Given the description of an element on the screen output the (x, y) to click on. 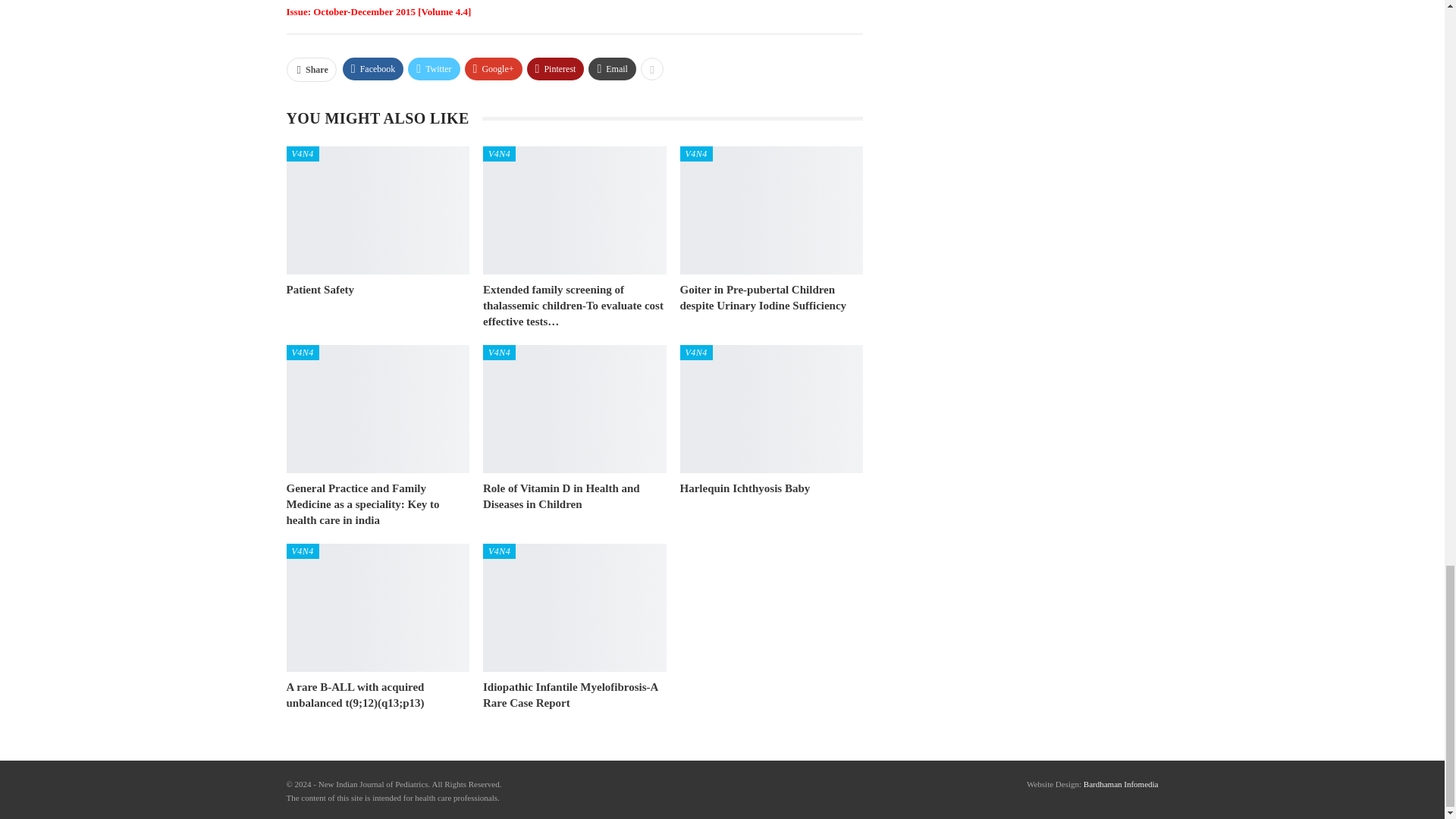
Idiopathic Infantile Myelofibrosis-A Rare Case Report (574, 607)
V4N4 (696, 352)
V4N4 (302, 153)
Role of Vitamin D in Health and Diseases in Children (561, 496)
Harlequin Ichthyosis Baby (771, 408)
V4N4 (499, 153)
Pinterest (556, 68)
Role of Vitamin D in Health and Diseases in Children (561, 496)
V4N4 (302, 352)
